Given the description of an element on the screen output the (x, y) to click on. 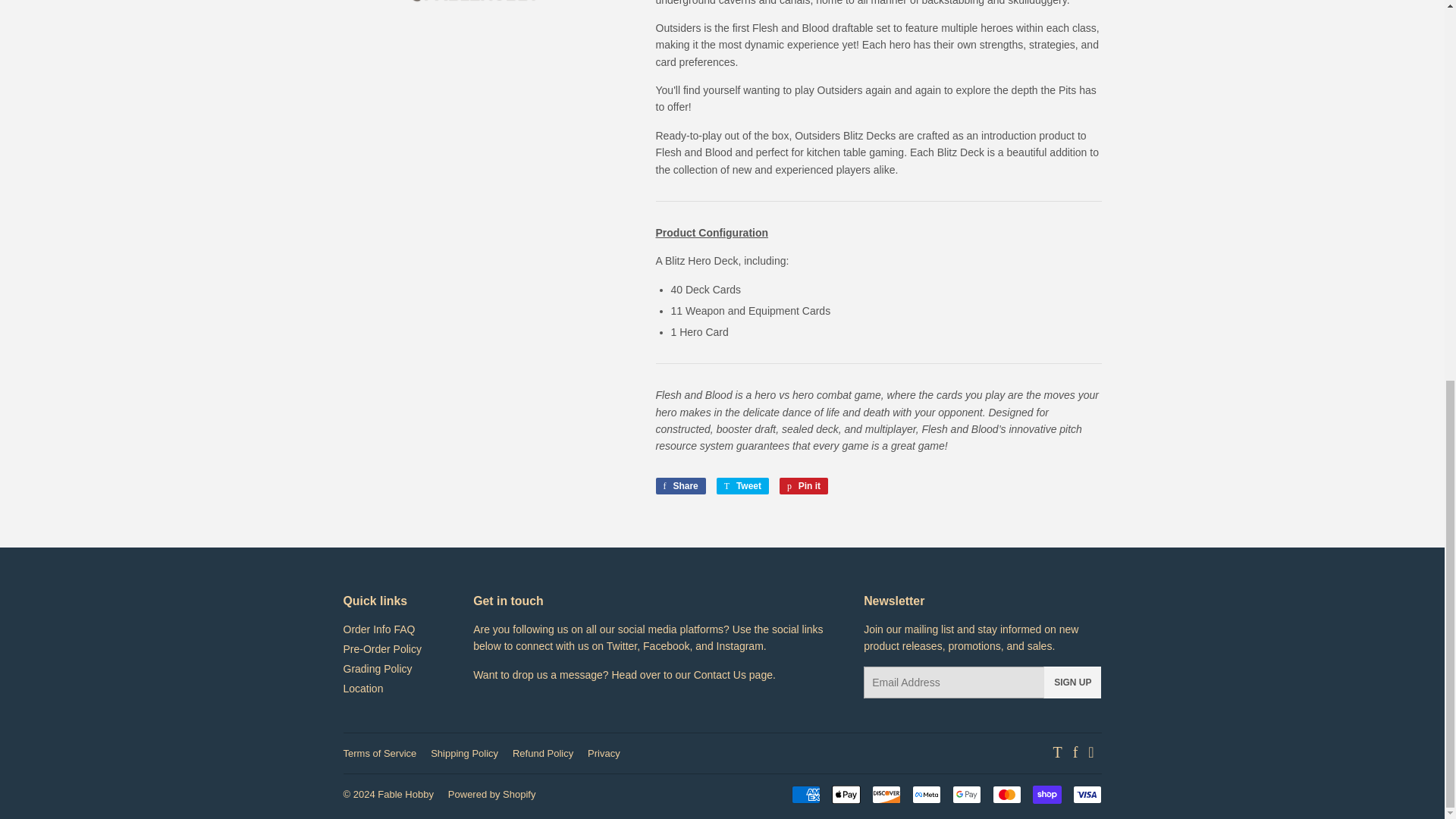
Meta Pay (925, 794)
Share on Facebook (679, 485)
Shop Pay (1046, 794)
Contact Us (719, 674)
American Express (806, 794)
Pin on Pinterest (803, 485)
Visa (1085, 794)
Google Pay (966, 794)
Mastercard (1005, 794)
Discover (886, 794)
